Given the description of an element on the screen output the (x, y) to click on. 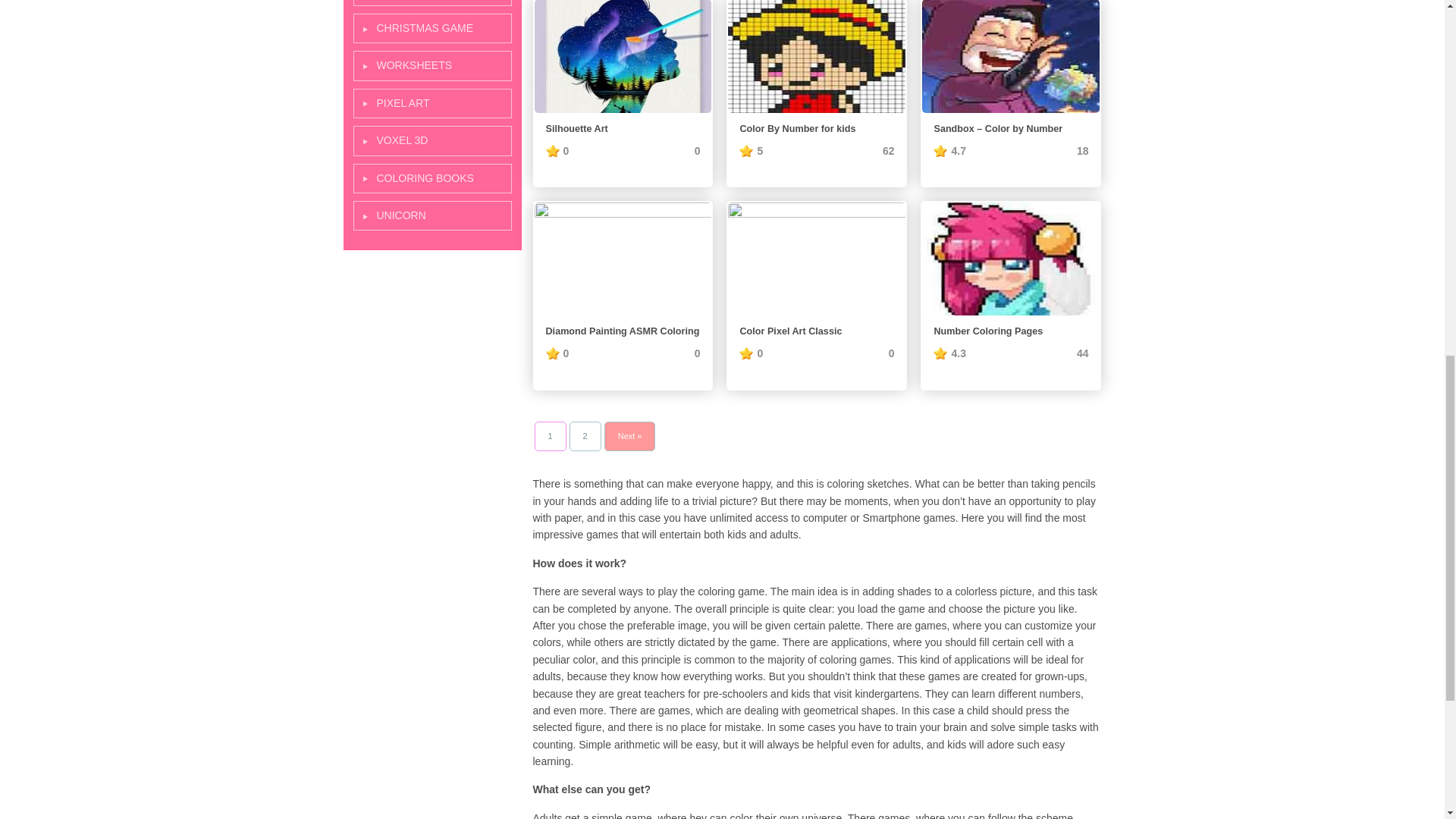
Color By Number for kids (816, 129)
PIXEL ART (432, 102)
Silhouette Art (623, 129)
UNICORN (432, 215)
WORKSHEETS (432, 65)
COLORING BOOKS (432, 178)
CHRISTMAS GAME (432, 28)
Silhouette Art (622, 56)
VOXEL 3D (432, 140)
